Given the description of an element on the screen output the (x, y) to click on. 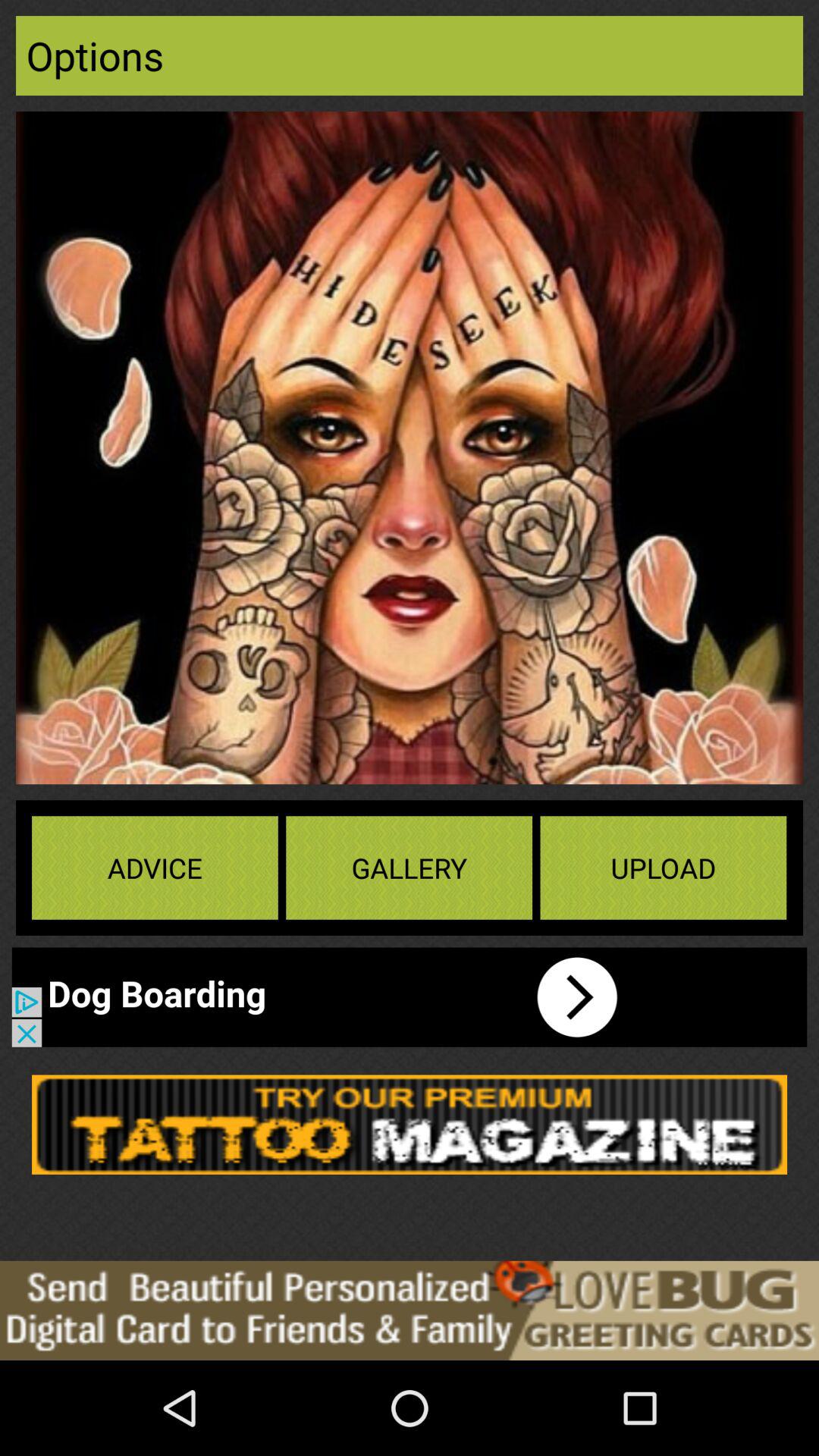
advertising (409, 1310)
